Given the description of an element on the screen output the (x, y) to click on. 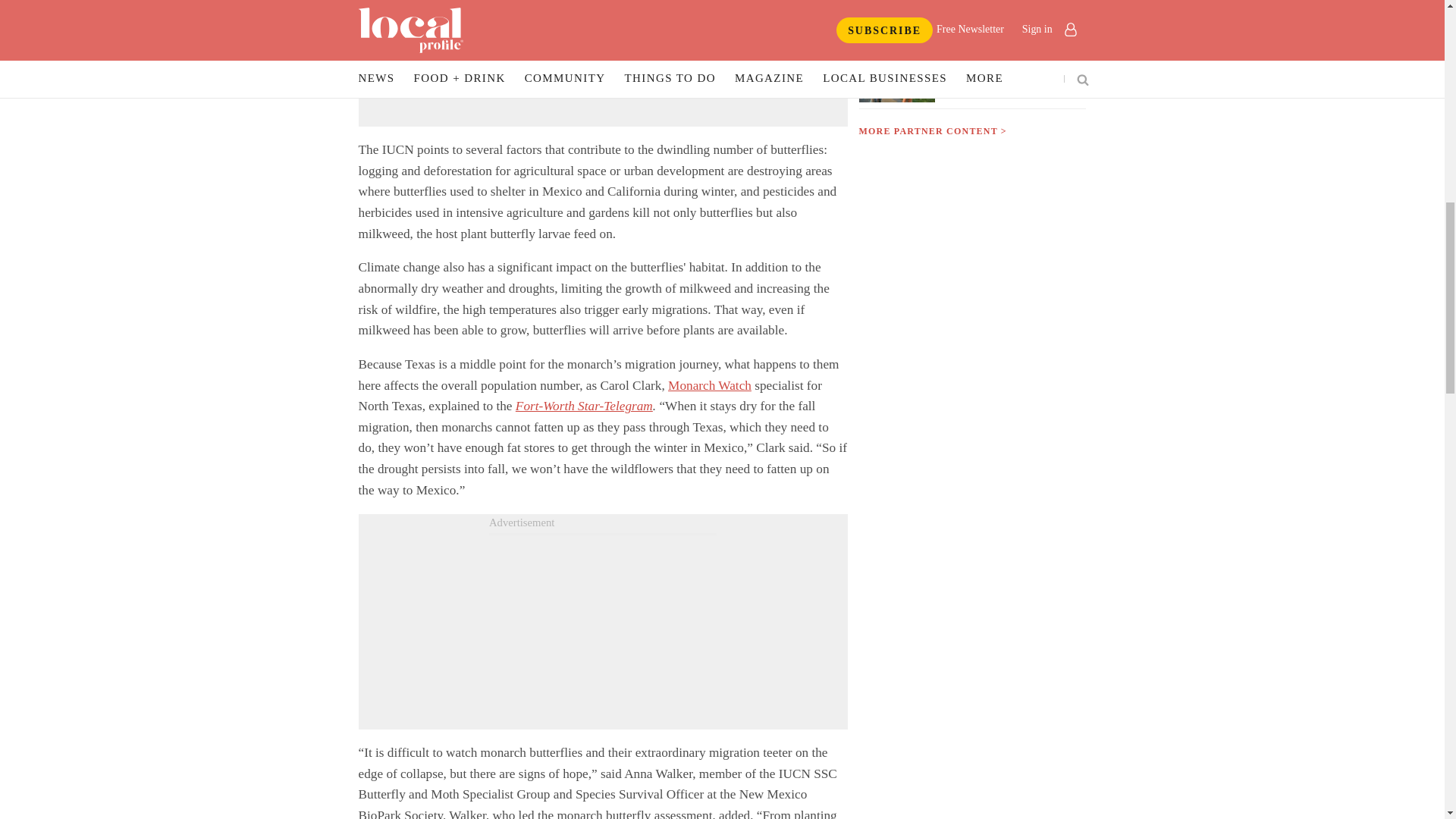
3rd party ad content (602, 629)
3rd party ad content (602, 83)
Has a gallery (1010, 12)
